Given the description of an element on the screen output the (x, y) to click on. 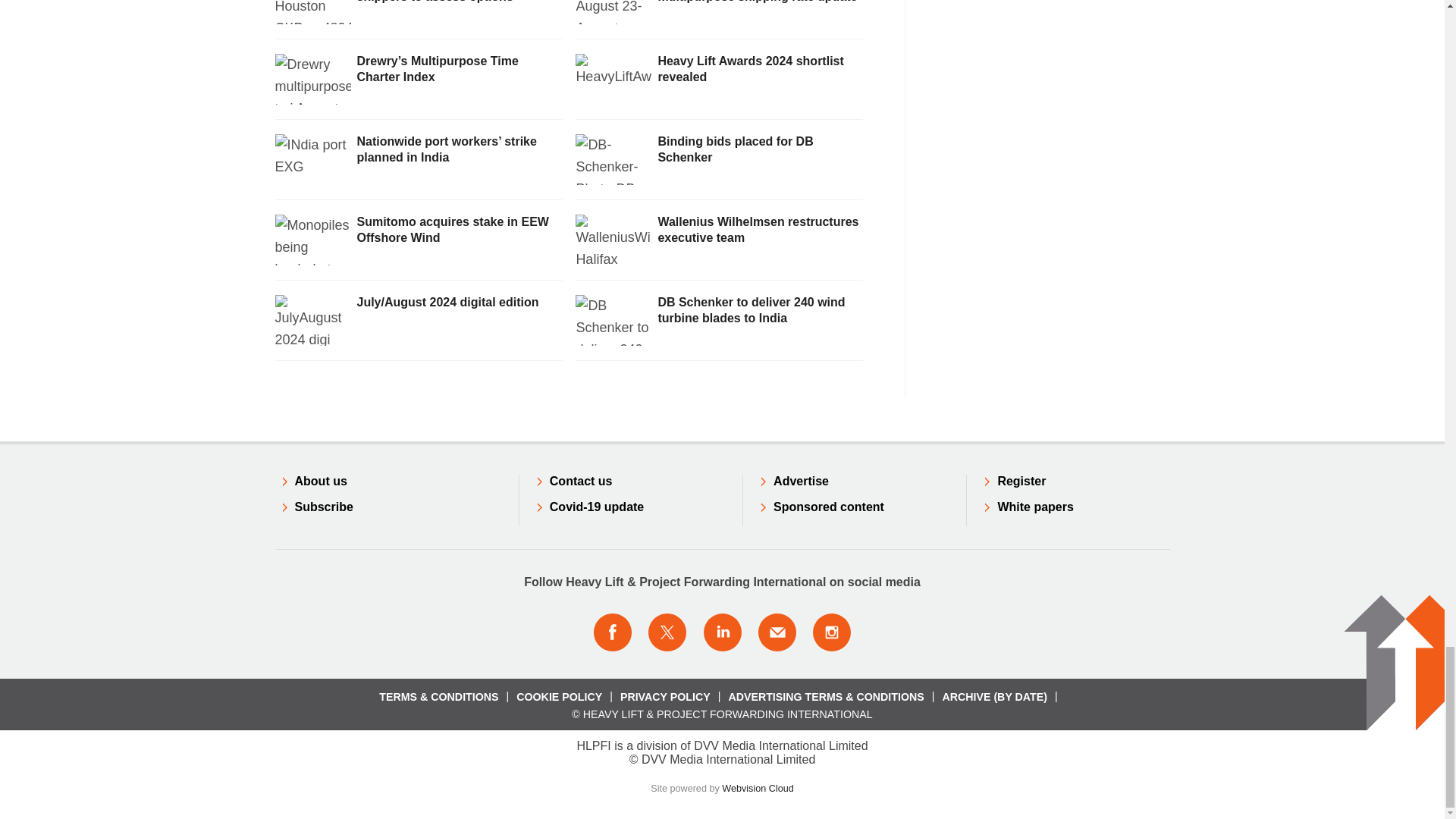
Connect with us on Twitter (667, 631)
Connect with us on Instagram (831, 631)
Connect with us on Facebook (611, 631)
Email us (776, 631)
Connect with us on LinkedIn (721, 631)
